Given the description of an element on the screen output the (x, y) to click on. 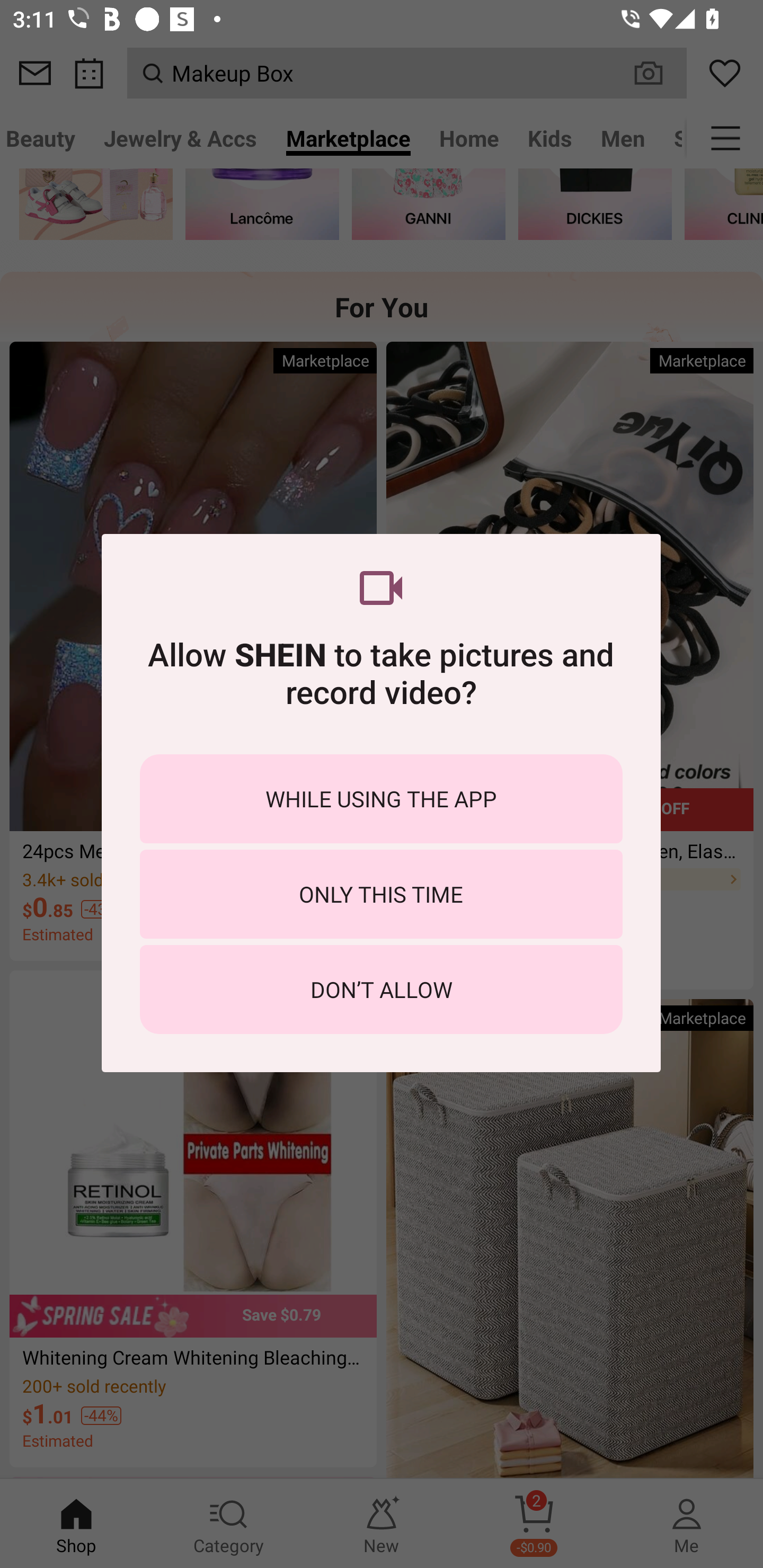
WHILE USING THE APP (380, 798)
ONLY THIS TIME (380, 894)
DON’T ALLOW (380, 989)
